Given the description of an element on the screen output the (x, y) to click on. 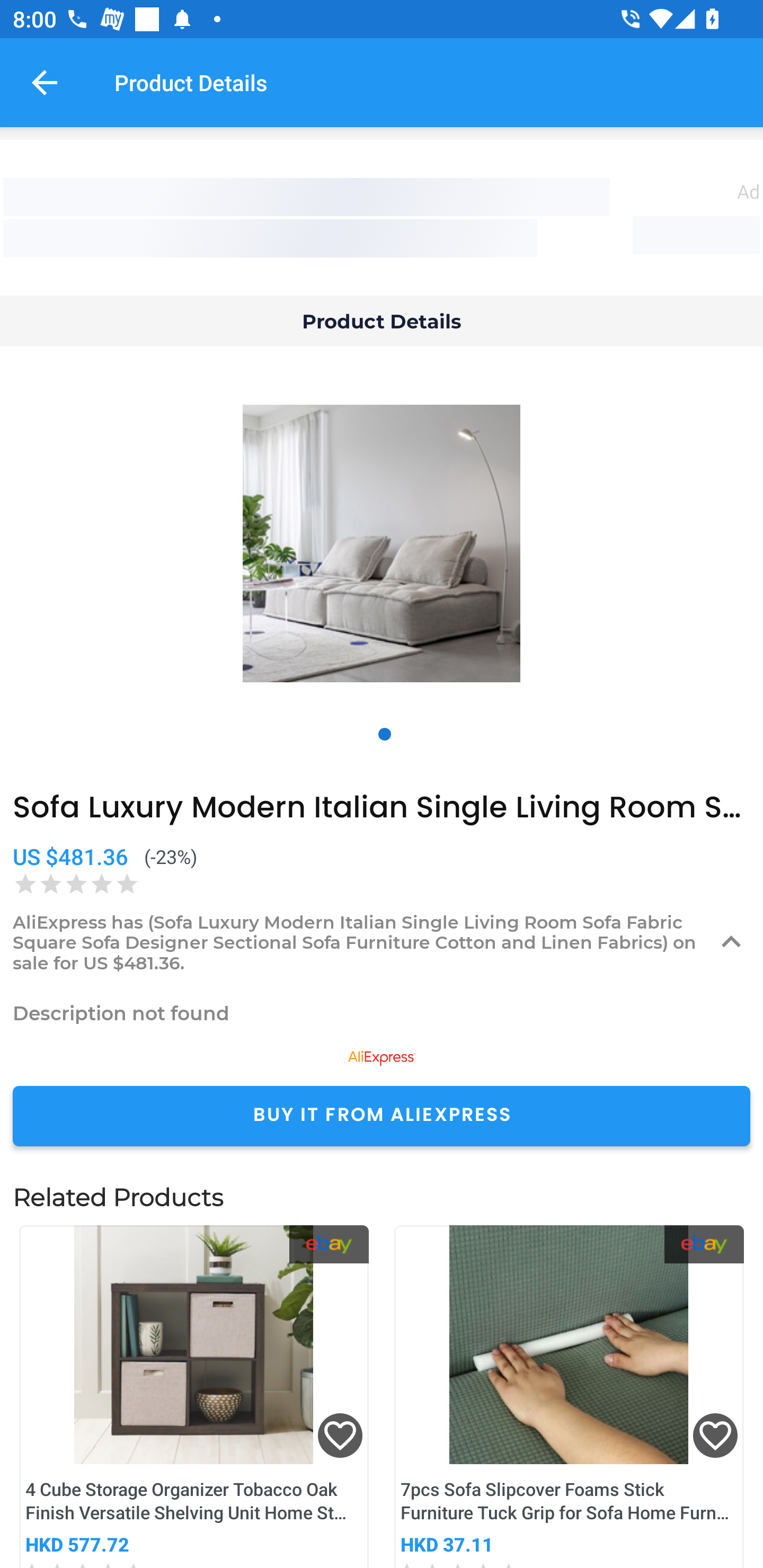
Navigate up (44, 82)
Description not found (381, 1012)
BUY IT FROM ALIEXPRESS (381, 1115)
